Given the description of an element on the screen output the (x, y) to click on. 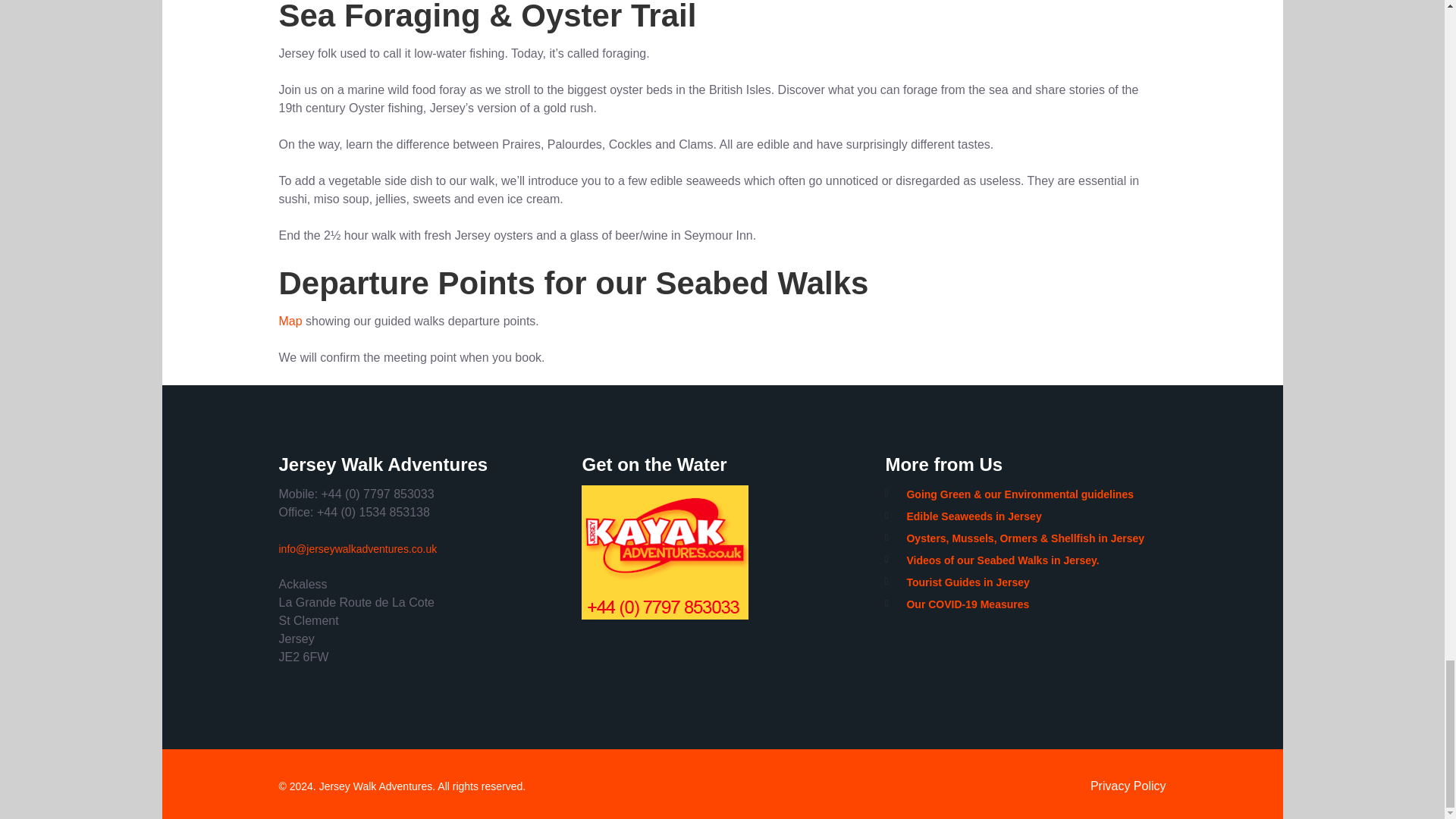
Jersey Kayak Adventures (720, 552)
